Given the description of an element on the screen output the (x, y) to click on. 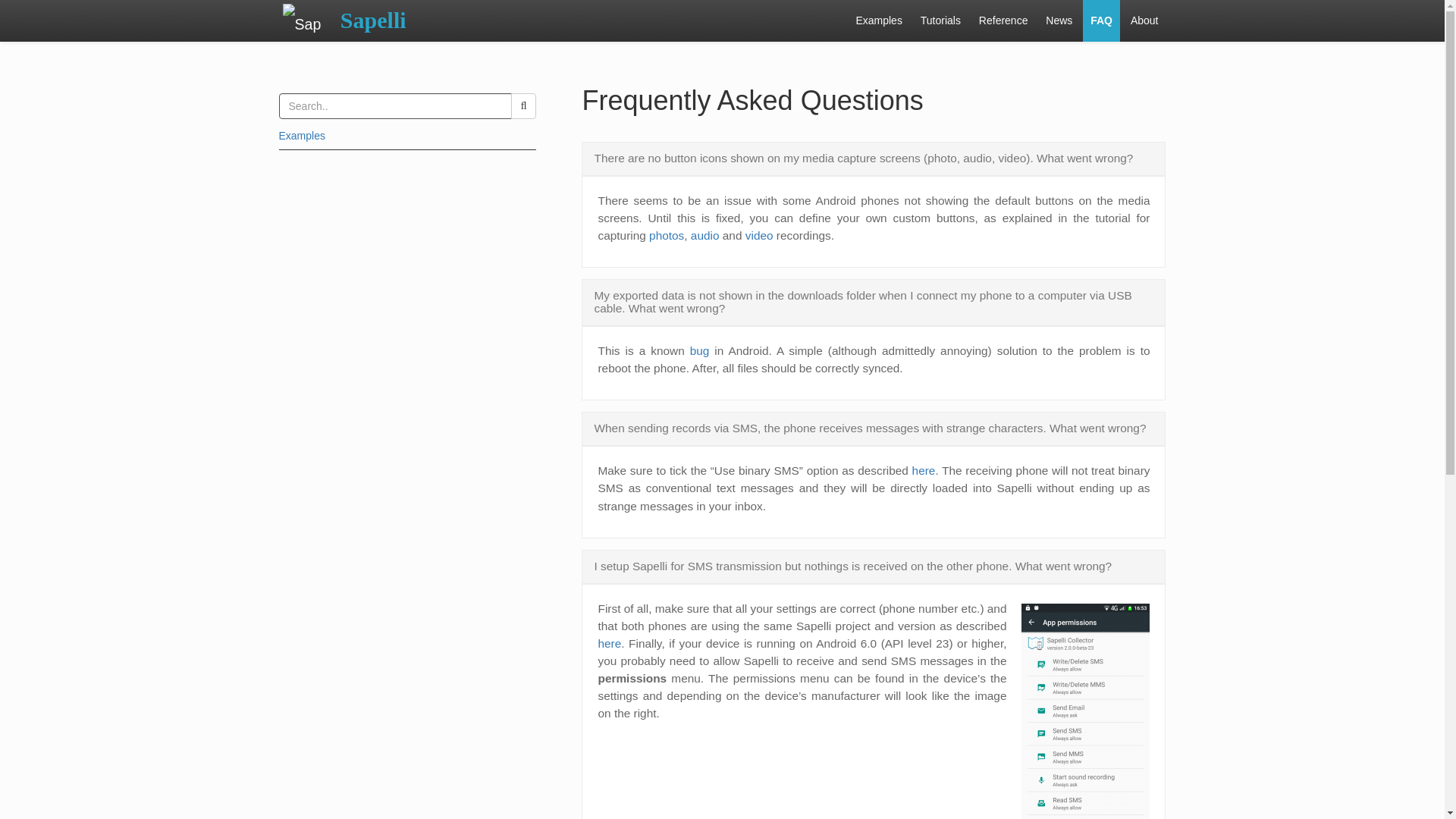
Examples (301, 135)
photos (666, 235)
here (924, 470)
Tutorials (940, 20)
Reference (1003, 20)
News (1059, 20)
Frequently Asked Questions (751, 100)
FAQ (1101, 20)
audio (704, 235)
here (608, 643)
